Given the description of an element on the screen output the (x, y) to click on. 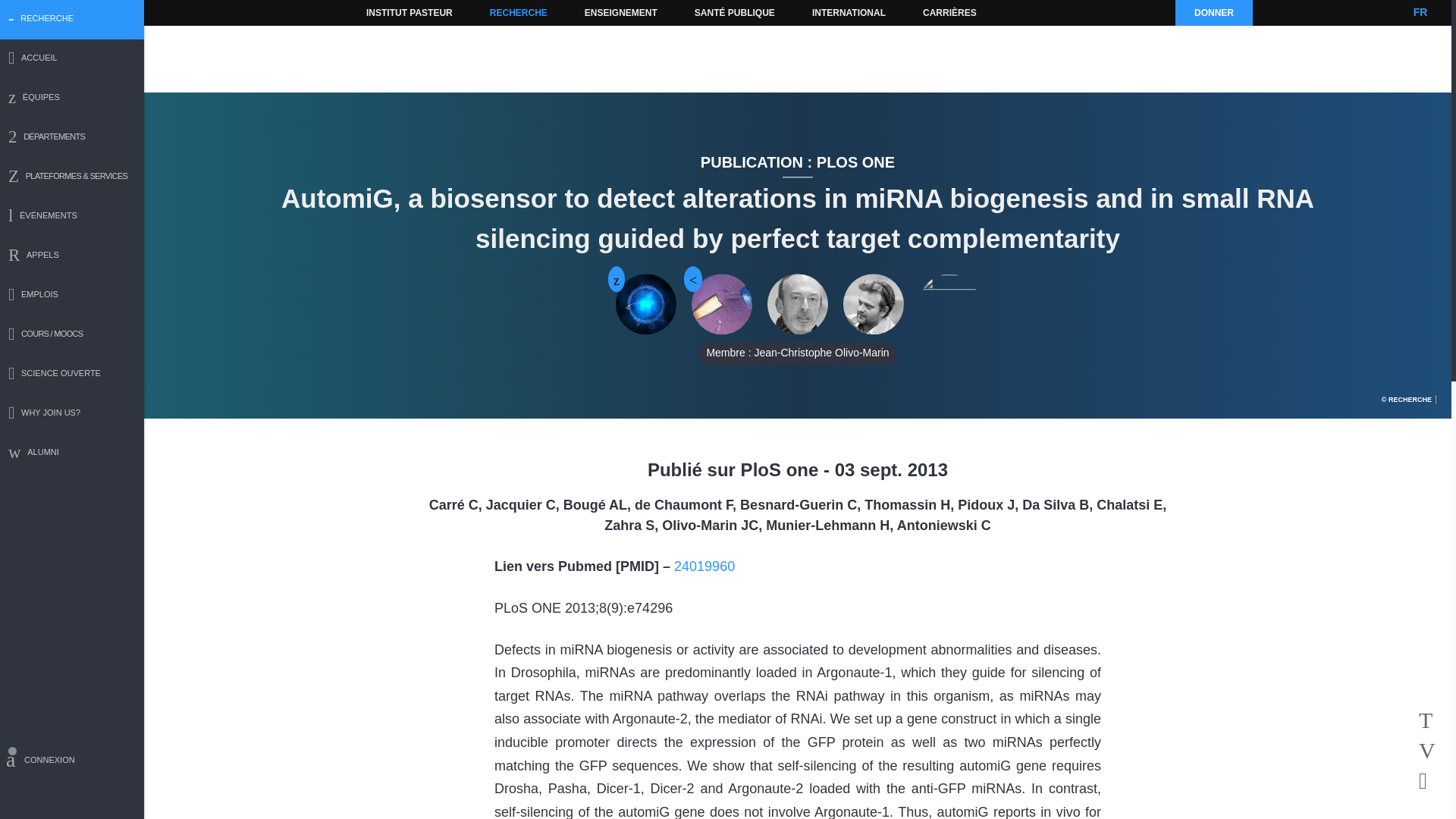
Aller au contenu (391, 11)
FR (1419, 11)
INTERNATIONAL (848, 12)
DONNER (1213, 12)
24019960 (704, 566)
ENSEIGNEMENT (620, 12)
APPELS (72, 256)
SCIENCE OUVERTE (72, 374)
ALUMNI (72, 454)
Membre : Jean-Christophe Olivo-Marin (797, 304)
CONNEXION (72, 762)
WHY JOIN US? (72, 413)
ACCUEIL (72, 59)
EMPLOIS (72, 296)
INSTITUT PASTEUR (409, 12)
